Given the description of an element on the screen output the (x, y) to click on. 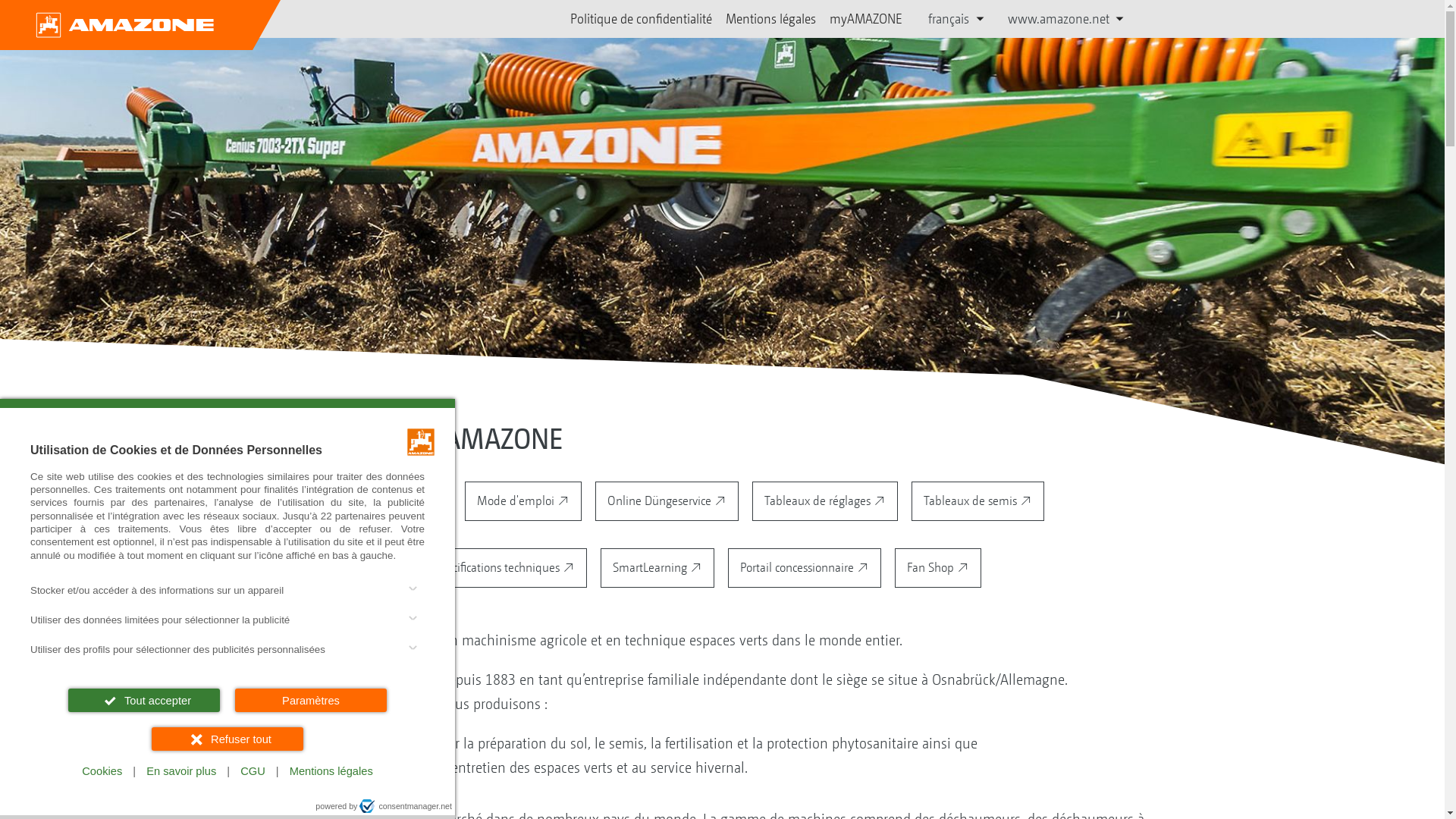
Cenius7003-2TX-Super_Claas_d0_kw_P8171257 Element type: hover (722, 278)
Portail concessionnaire Element type: text (804, 567)
Tout accepter Element type: text (143, 700)
SmartLearning Element type: text (657, 567)
Cookies Element type: text (101, 771)
Refuser tout Element type: text (227, 738)
consentmanager.net Element type: text (405, 805)
myAMAZONE Element type: text (865, 18)
CGU Element type: text (252, 771)
Mode d'emploi Element type: text (522, 500)
Tableaux de semis Element type: text (977, 500)
En savoir plus Element type: text (180, 771)
Prospectus Element type: text (319, 500)
Fan Shop Element type: text (937, 567)
